Given the description of an element on the screen output the (x, y) to click on. 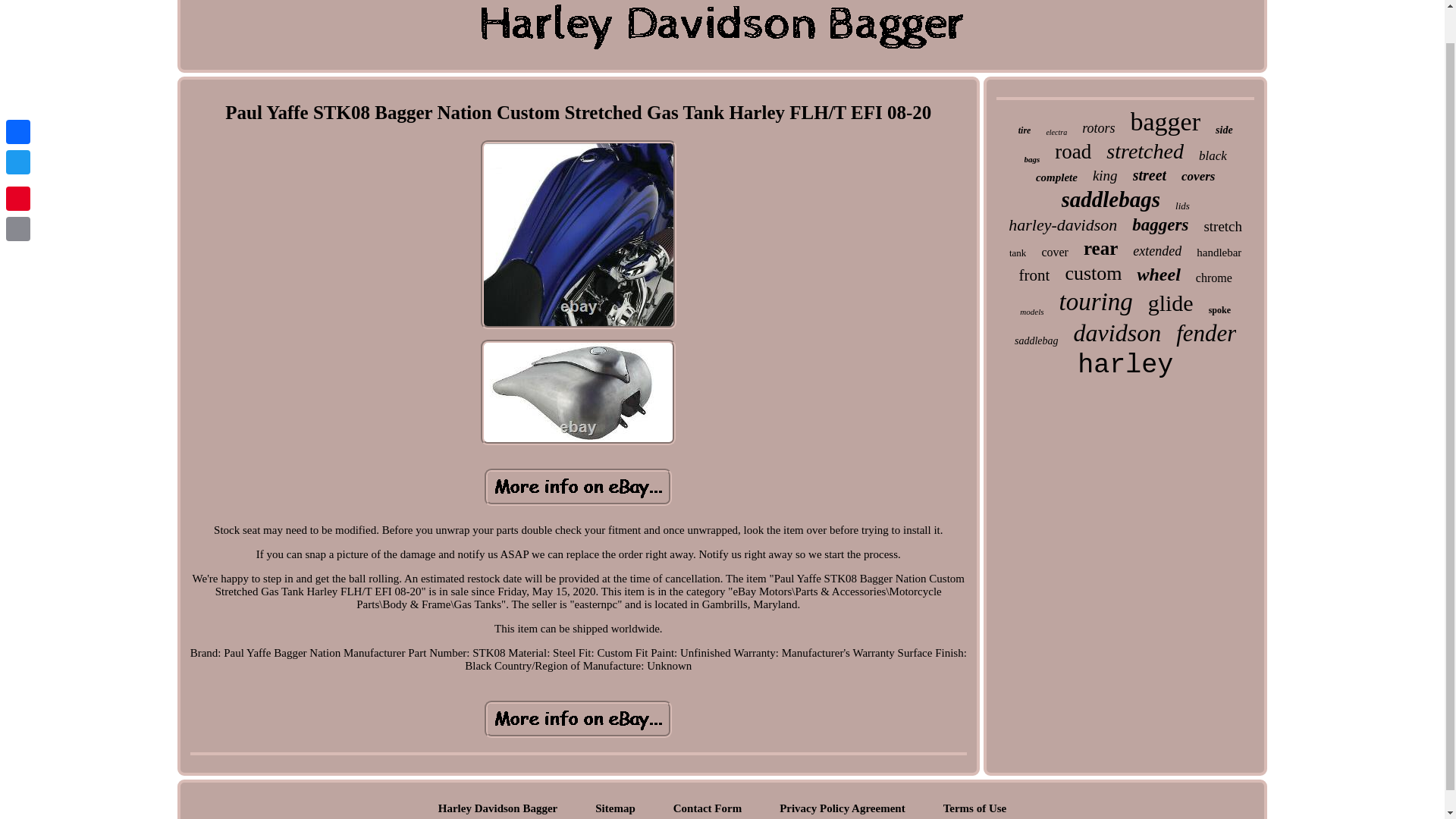
stretch (1222, 226)
covers (1197, 176)
road (1072, 151)
tire (1023, 130)
Facebook (17, 96)
rear (1100, 248)
lids (1181, 205)
black (1212, 155)
wheel (1158, 274)
bagger (1166, 121)
